Given the description of an element on the screen output the (x, y) to click on. 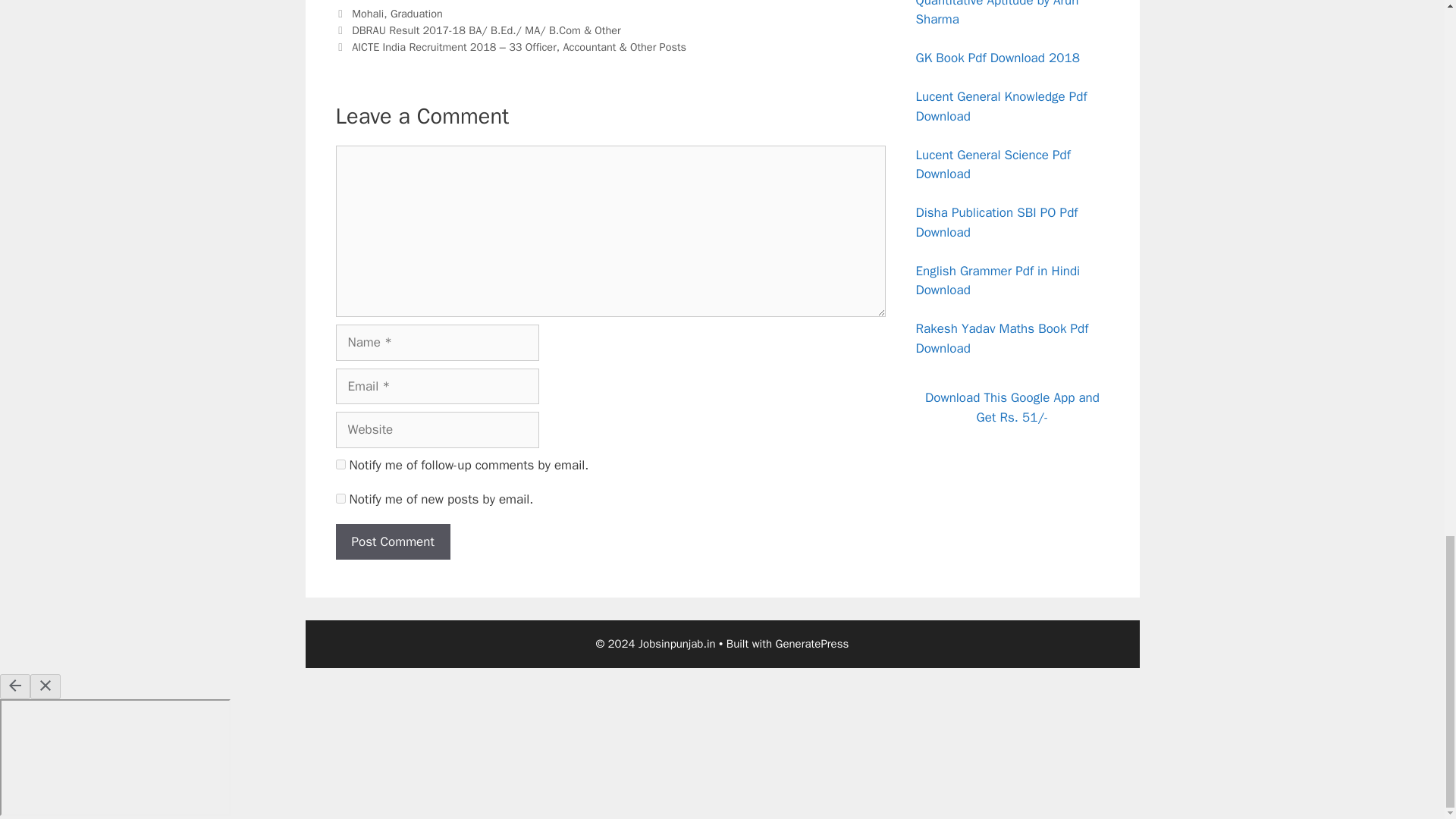
Graduation (416, 13)
subscribe (339, 498)
Mohali (368, 13)
Post Comment (391, 542)
subscribe (339, 464)
Post Comment (391, 542)
